Given the description of an element on the screen output the (x, y) to click on. 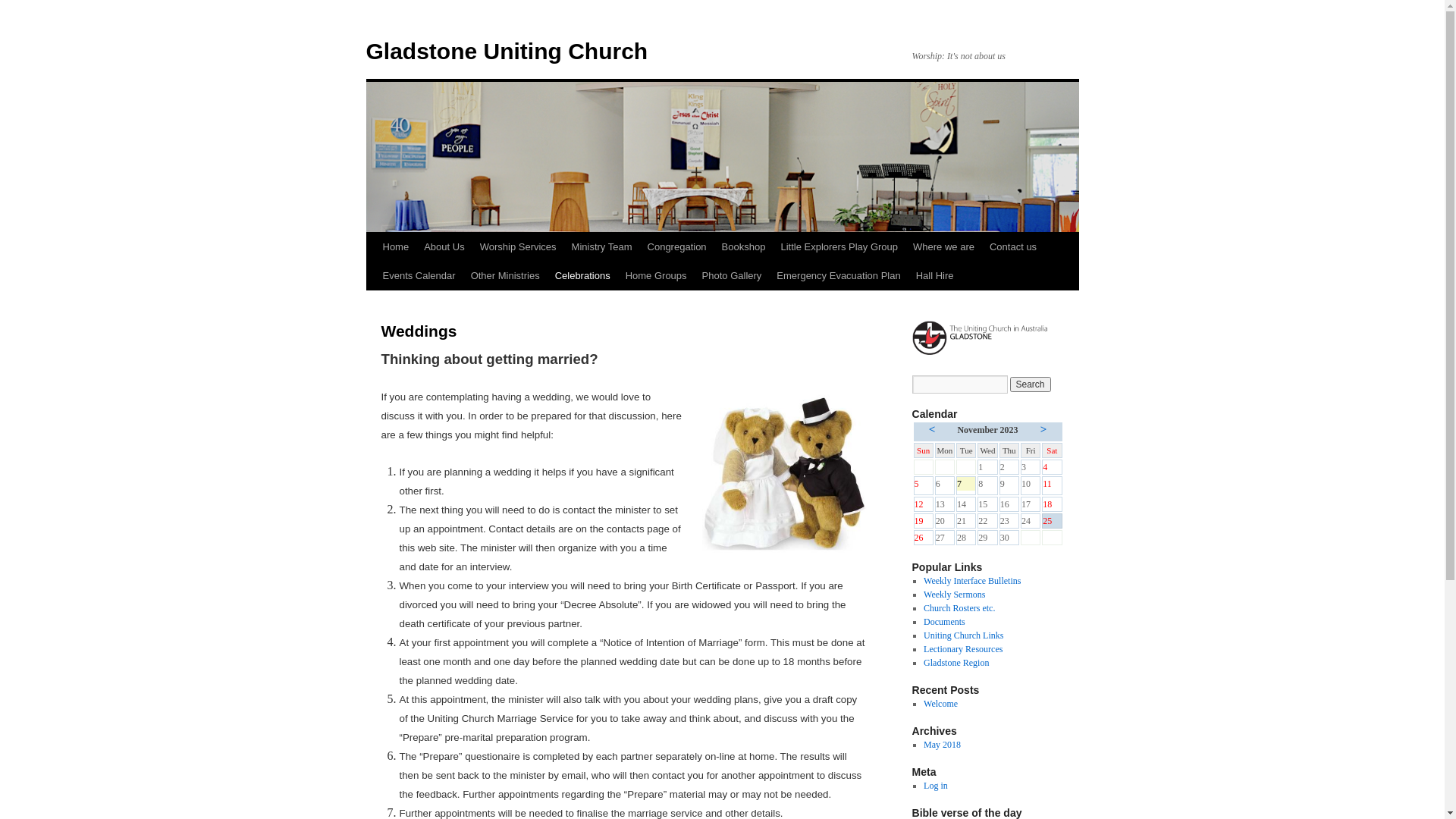
Gladstone Uniting Church Element type: text (506, 50)
Hall Hire Element type: text (934, 275)
Uniting Church Links Element type: text (963, 635)
May 2018 Element type: text (941, 744)
Contact us Element type: text (1013, 246)
Photo Gallery Element type: text (731, 275)
Home Element type: text (395, 246)
Bookshop Element type: text (743, 246)
Gladstone Region Element type: text (955, 662)
Emergency Evacuation Plan Element type: text (837, 275)
< Element type: text (931, 429)
Documents Element type: text (944, 621)
Skip to content Element type: text (372, 275)
Home Groups Element type: text (656, 275)
Little Explorers Play Group Element type: text (838, 246)
Where we are Element type: text (943, 246)
> Element type: text (1043, 429)
Ministry Team Element type: text (602, 246)
Events Calendar Element type: text (418, 275)
Welcome Element type: text (940, 703)
Other Ministries Element type: text (505, 275)
Lectionary Resources Element type: text (962, 648)
Weekly Interface Bulletins Element type: text (971, 580)
Congregation Element type: text (677, 246)
Church Rosters etc. Element type: text (958, 607)
7 Element type: text (966, 483)
Search Element type: text (1030, 384)
Log in Element type: text (935, 785)
Worship Services Element type: text (518, 246)
About Us Element type: text (443, 246)
Celebrations Element type: text (582, 275)
Weekly Sermons Element type: text (954, 594)
